Given the description of an element on the screen output the (x, y) to click on. 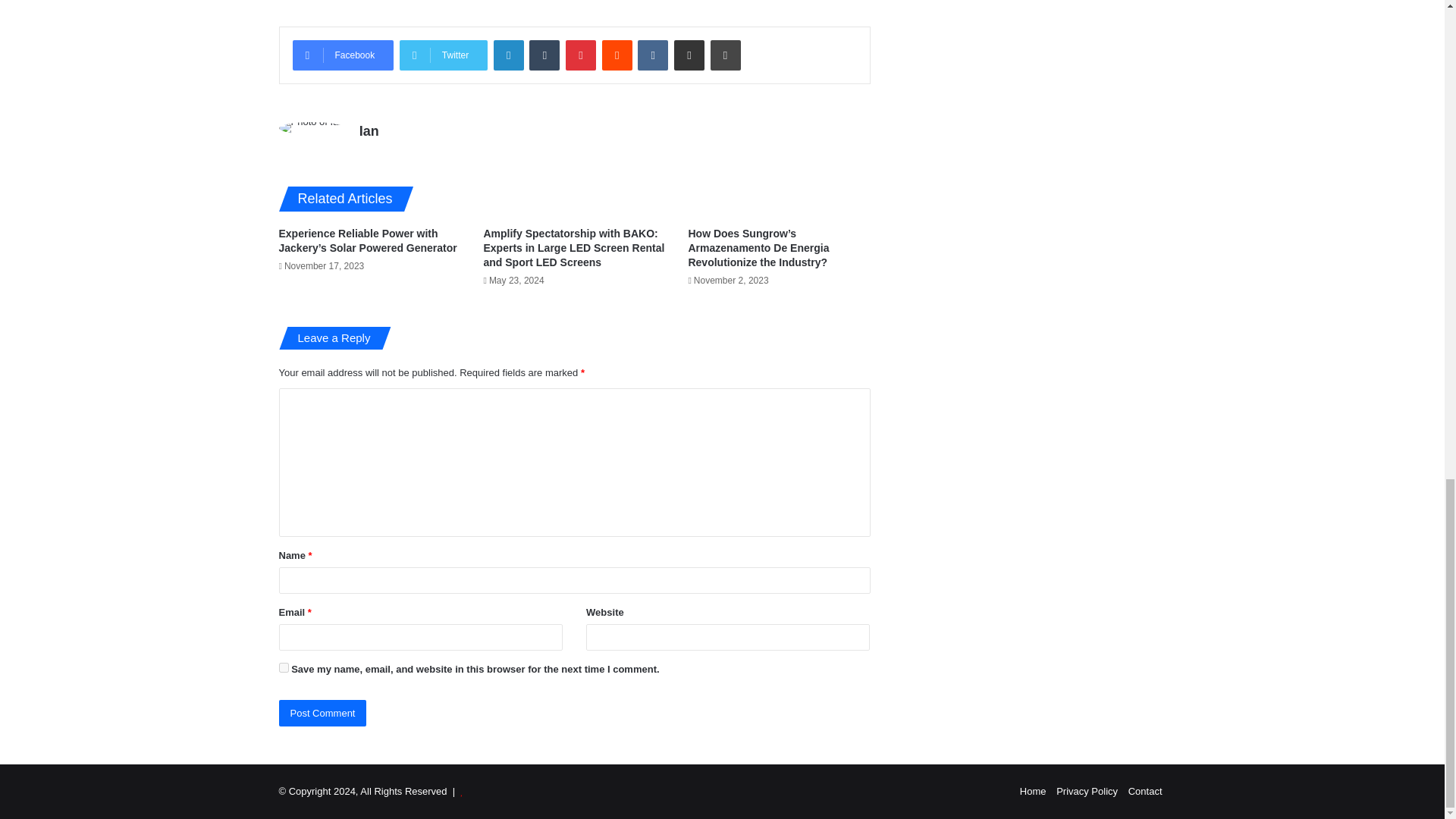
Ian (368, 130)
Facebook (343, 55)
Share via Email (689, 55)
Twitter (442, 55)
Post Comment (322, 713)
LinkedIn (508, 55)
Post Comment (322, 713)
VKontakte (652, 55)
Facebook (343, 55)
